Given the description of an element on the screen output the (x, y) to click on. 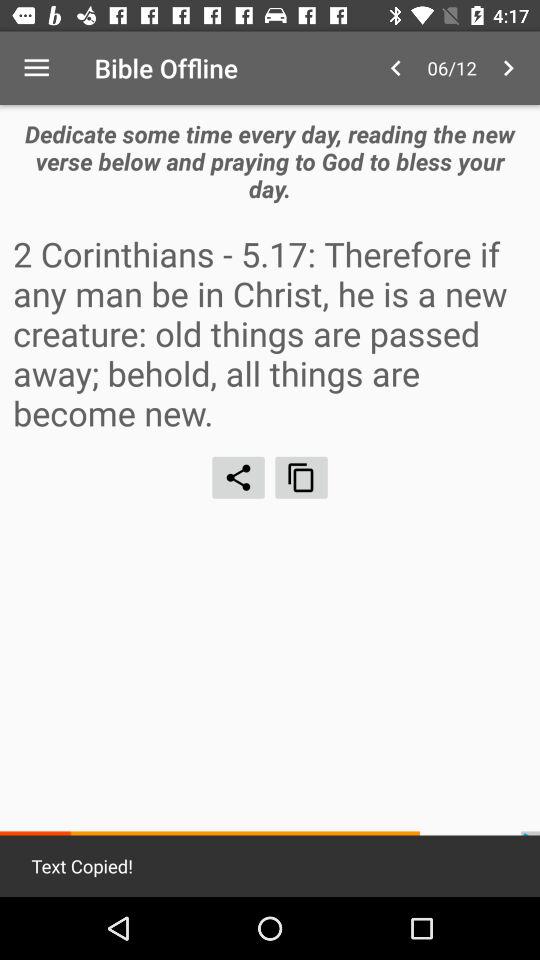
press the item above dedicate some time icon (395, 67)
